Given the description of an element on the screen output the (x, y) to click on. 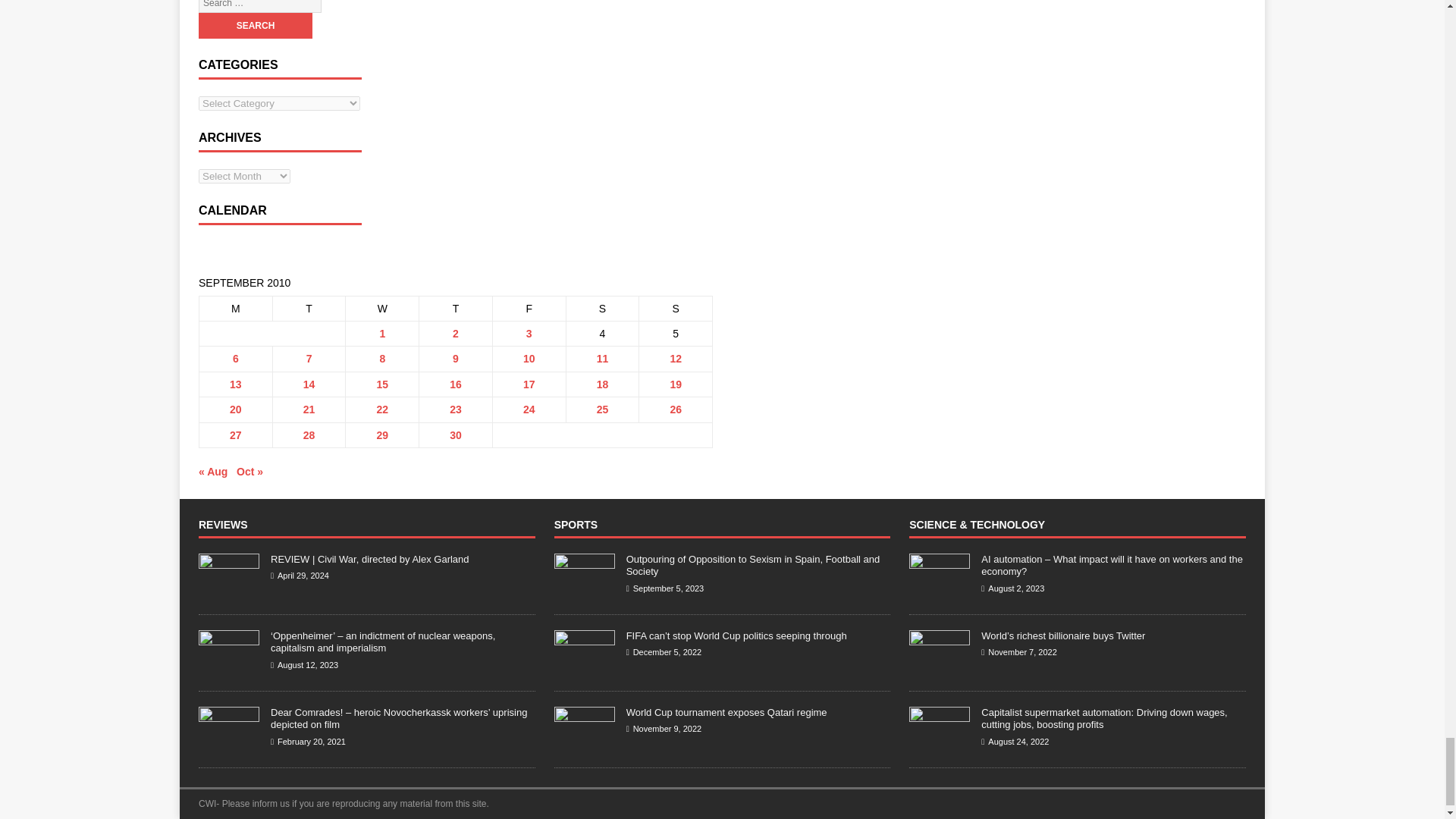
Search (255, 25)
Search (255, 25)
